Given the description of an element on the screen output the (x, y) to click on. 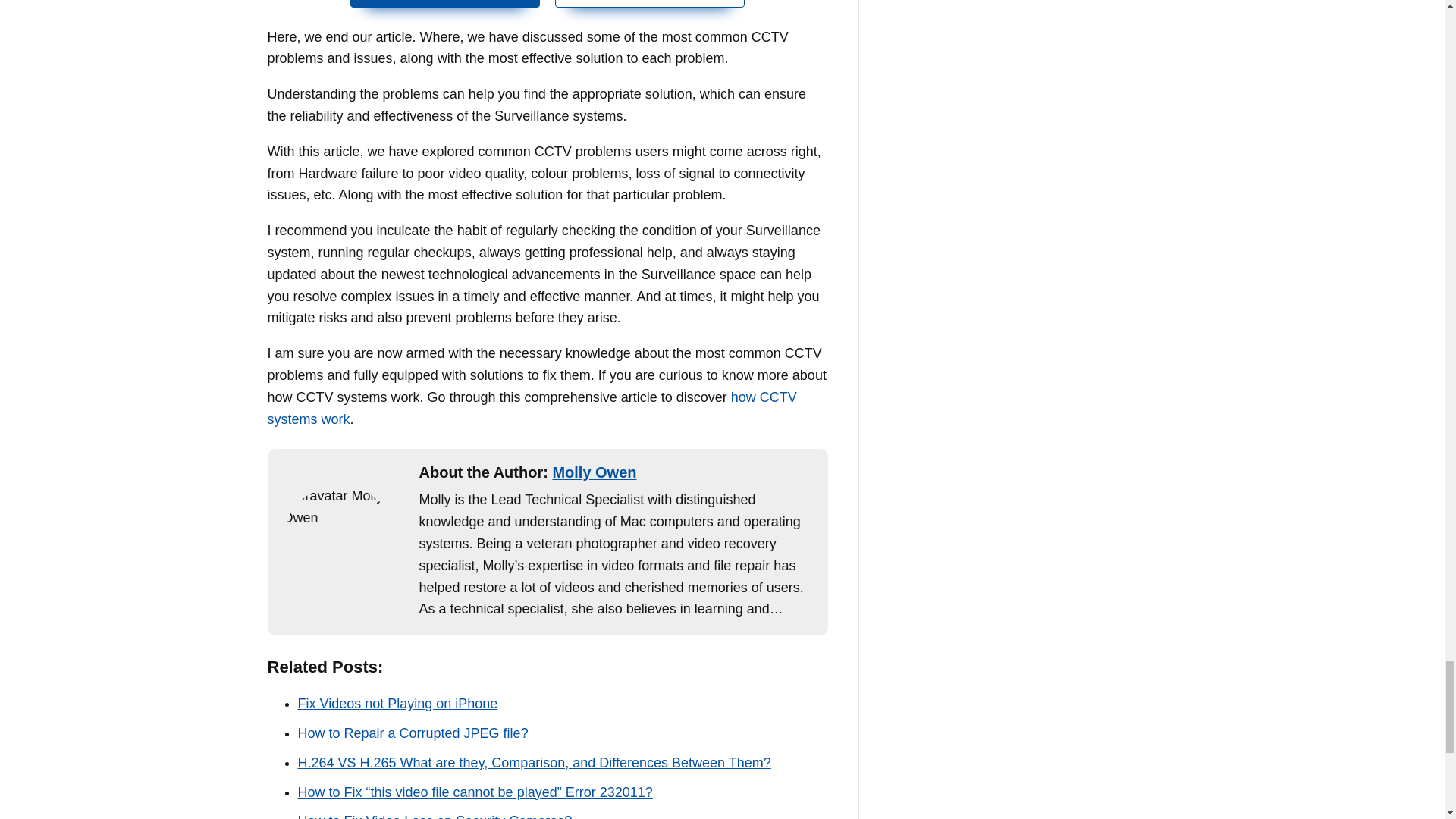
Fix Videos not Playing on iPhone (397, 703)
How to Fix Video Loss on Security Cameras? (434, 816)
Molly Owen (649, 3)
How to Fix Video Loss on Security Cameras? (593, 472)
How to Repair a Corrupted JPEG file? (434, 816)
Fix Videos not Playing on iPhone (412, 733)
How to Repair a Corrupted JPEG file? (397, 703)
how CCTV systems work (412, 733)
